Given the description of an element on the screen output the (x, y) to click on. 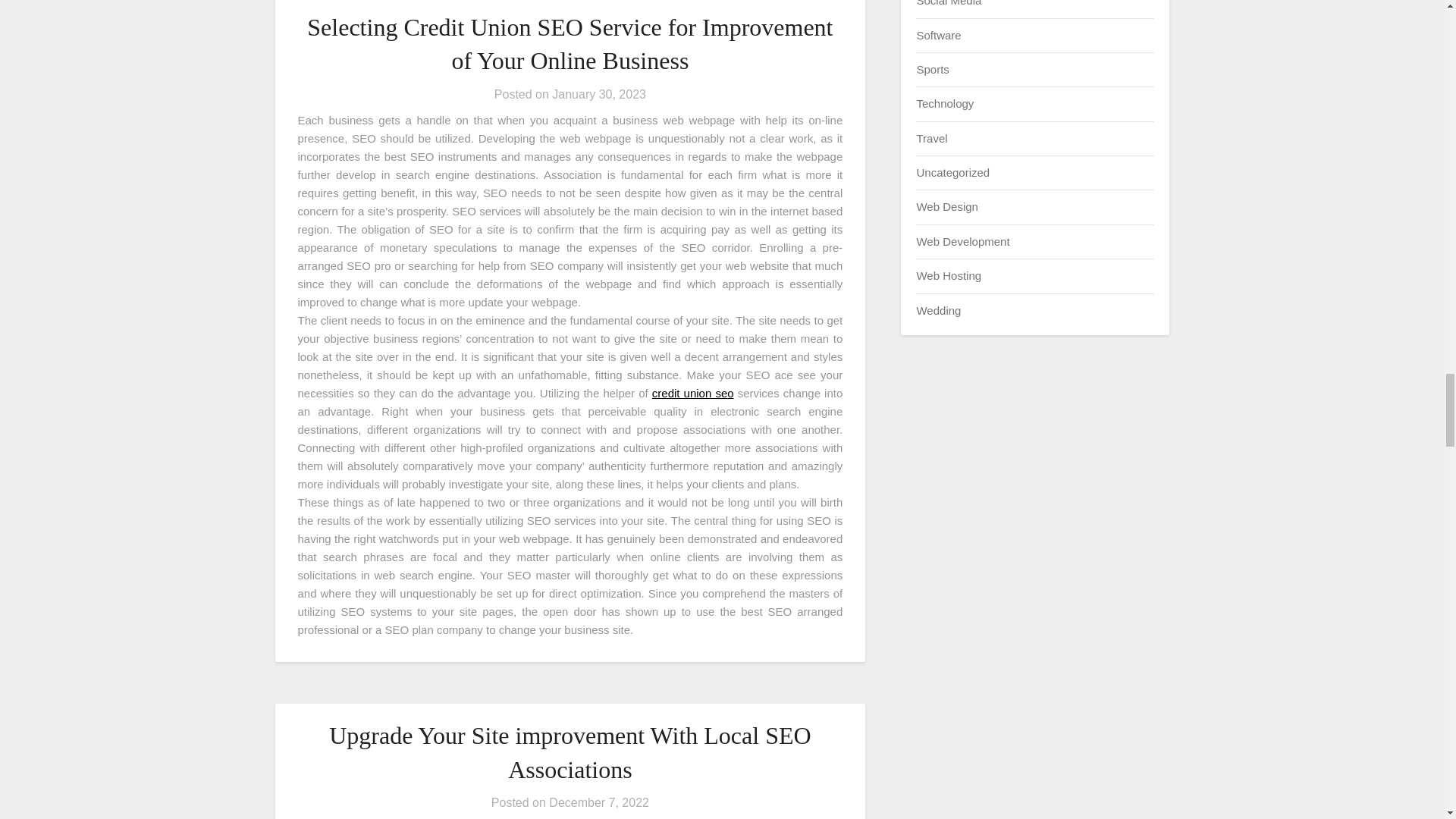
credit union seo (692, 392)
January 30, 2023 (598, 93)
December 7, 2022 (598, 802)
Upgrade Your Site improvement With Local SEO Associations (569, 751)
